Given the description of an element on the screen output the (x, y) to click on. 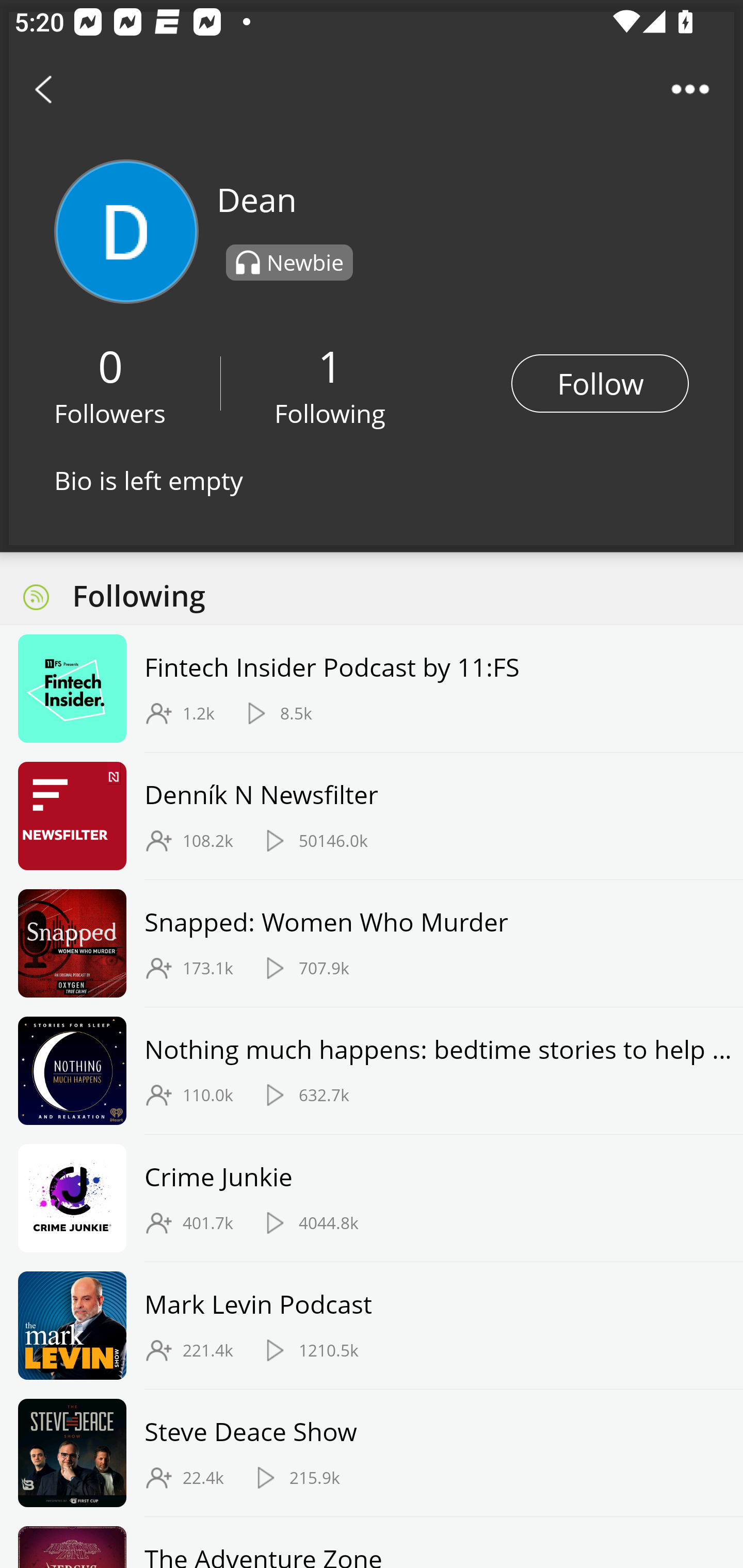
0 (110, 365)
1 (330, 365)
Follow (599, 383)
Followers (110, 413)
Following (329, 413)
Fintech Insider Podcast by 11:FS 1.2k 8.5k (371, 688)
Denník N Newsfilter 108.2k 50146.0k (371, 815)
Snapped: Women Who Murder 173.1k 707.9k (371, 942)
Crime Junkie 401.7k 4044.8k (371, 1198)
Mark Levin Podcast 221.4k 1210.5k (371, 1325)
Steve Deace Show 22.4k 215.9k (371, 1452)
